Given the description of an element on the screen output the (x, y) to click on. 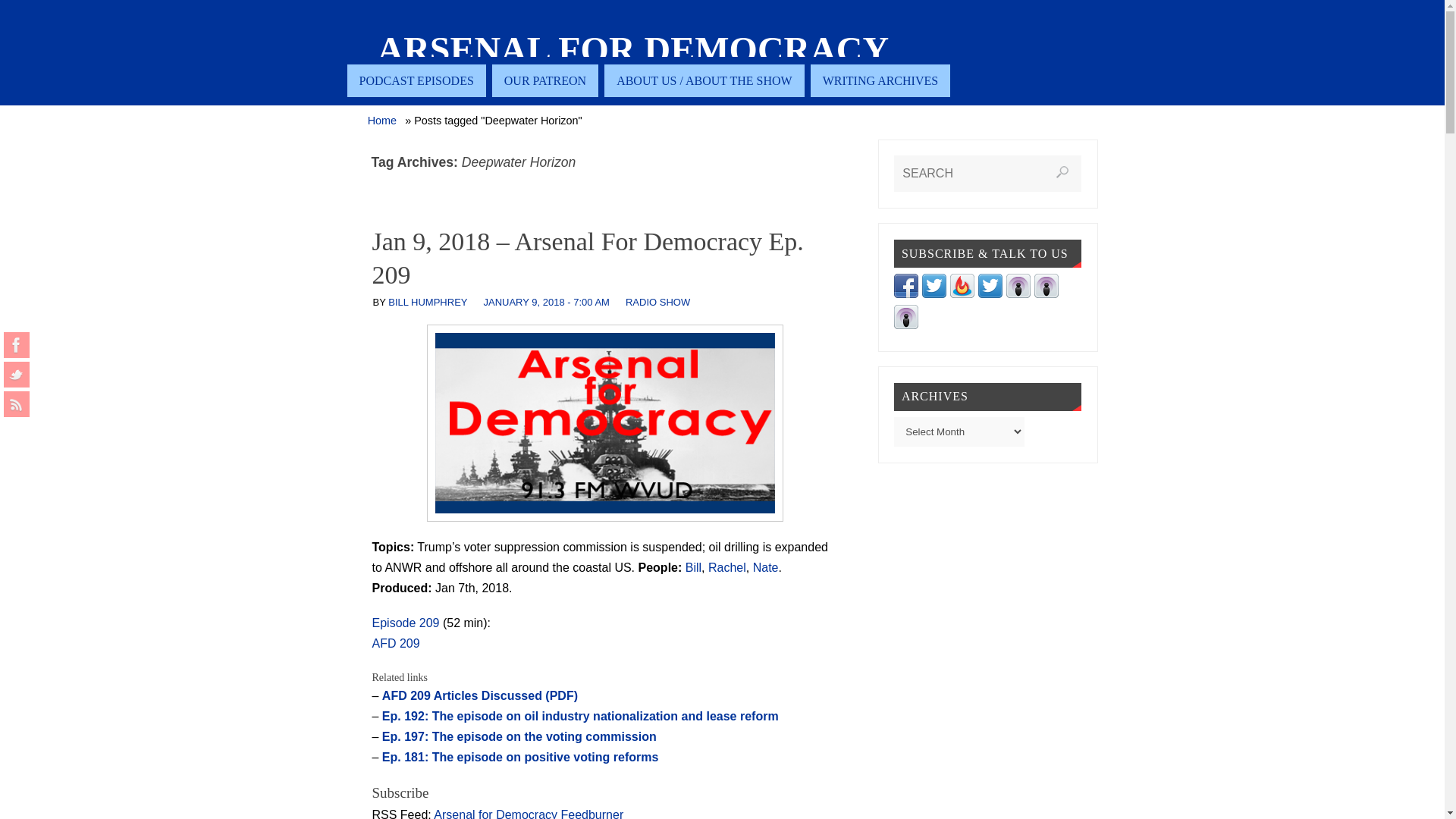
Follow afdradio on Twitter (933, 293)
Bill (693, 567)
Ep. 181: The episode on positive voting reforms (520, 757)
View all posts by Bill Humphrey (427, 301)
Rachel (726, 567)
PODCAST EPISODES (416, 80)
OUR PATREON (545, 80)
Episode 209 (405, 622)
Subscribe to RSS Feed (962, 293)
AFD on Facebook (16, 344)
JANUARY 9, 2018 - 7:00 AM (546, 301)
RADIO SHOW (658, 301)
ARSENAL FOR DEMOCRACY (633, 49)
AFD RSS Feed (16, 403)
